Given the description of an element on the screen output the (x, y) to click on. 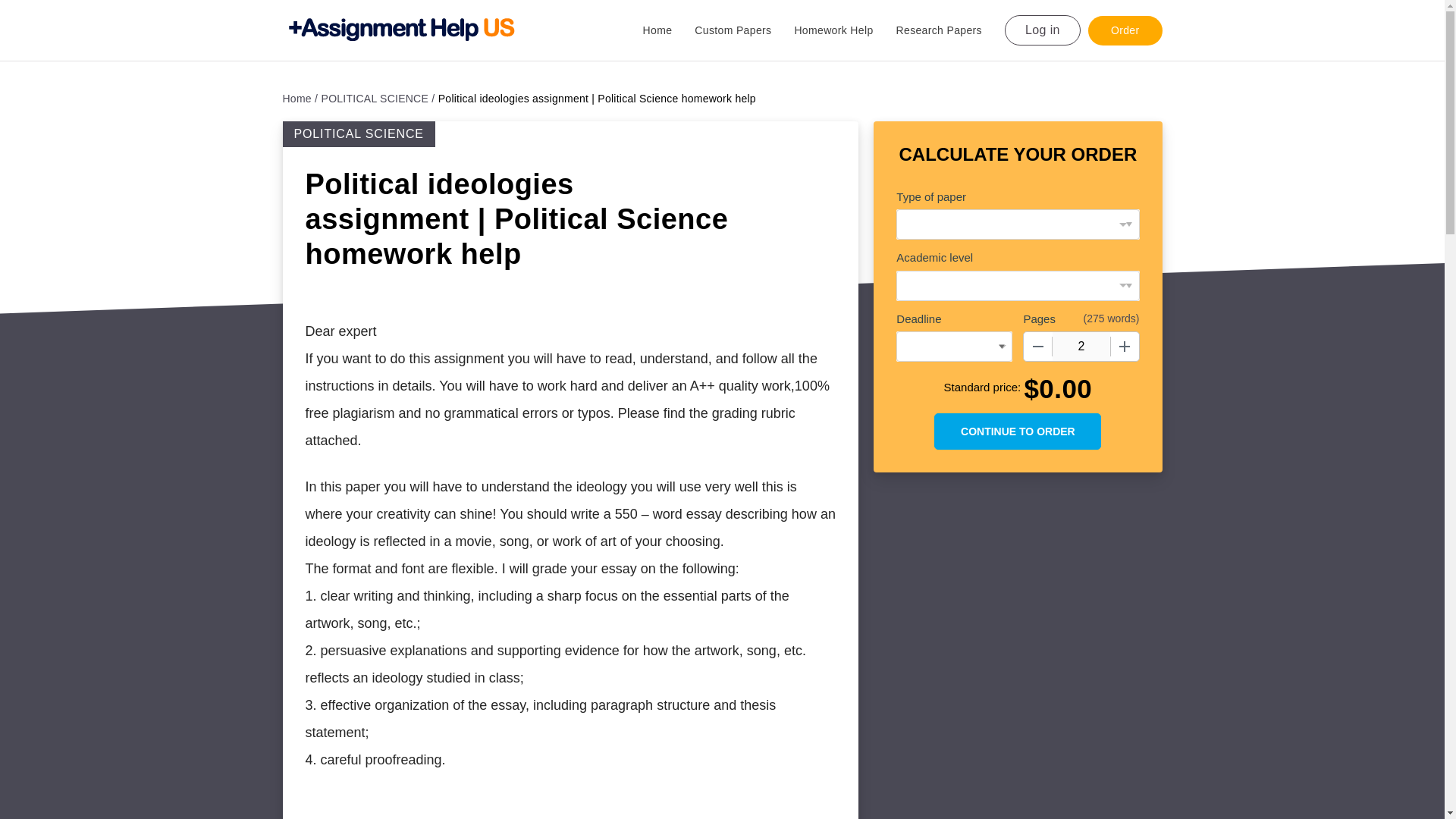
Research Papers (950, 30)
Order (1124, 30)
Log in (1042, 30)
Home (299, 98)
Homework Help (844, 30)
Increase (1123, 346)
Continue to order (1017, 431)
Continue to order (1017, 431)
Home (669, 30)
2 (1080, 346)
Decrease (1037, 346)
POLITICAL SCIENCE (378, 98)
Custom Papers (743, 30)
